Given the description of an element on the screen output the (x, y) to click on. 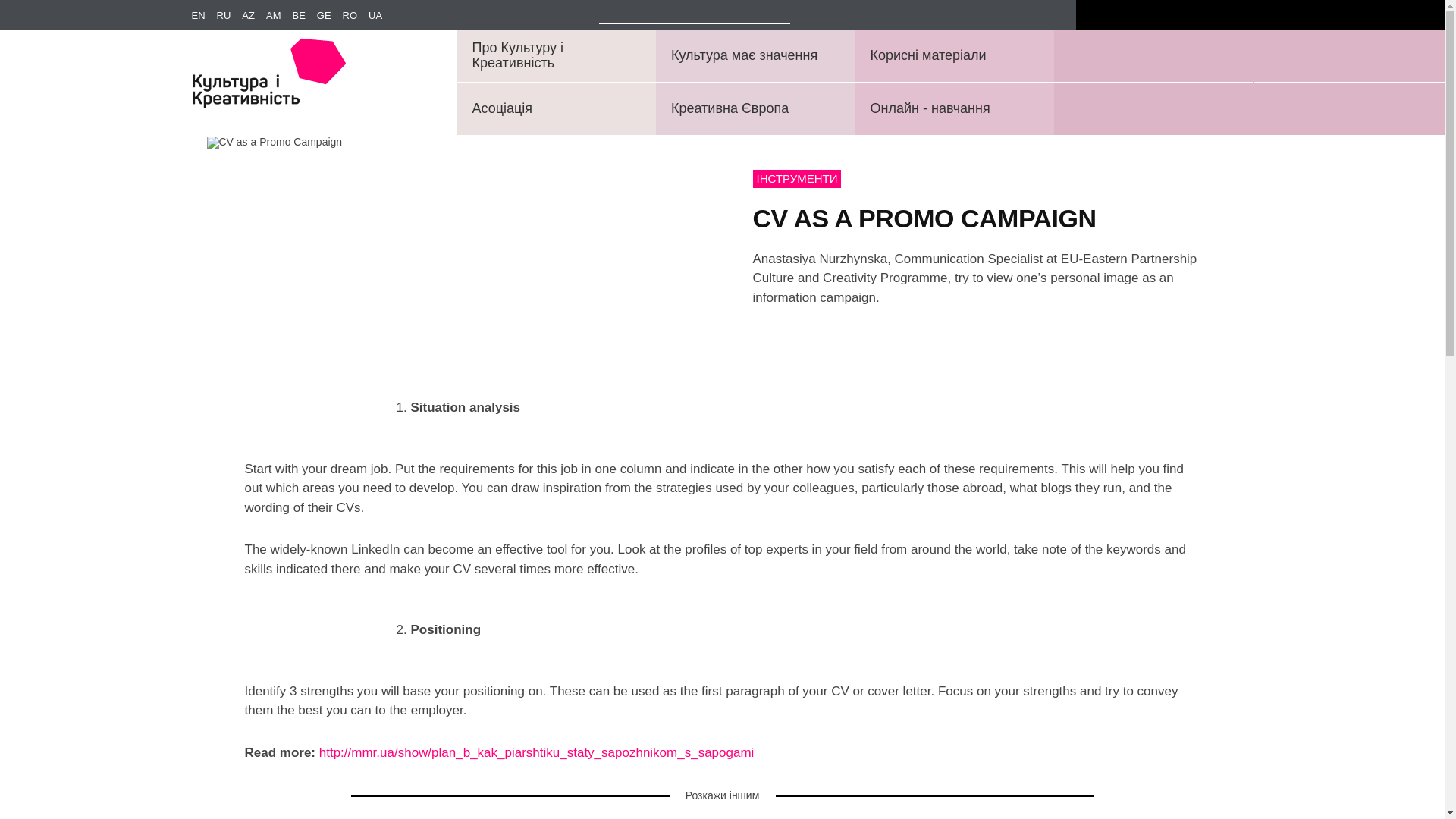
AZ (253, 15)
EN (202, 15)
AM (279, 15)
UA (380, 15)
BE (303, 15)
GE (329, 15)
Culture EU-Eastern Partnership Programme (267, 81)
RO (355, 15)
RU (229, 15)
